Given the description of an element on the screen output the (x, y) to click on. 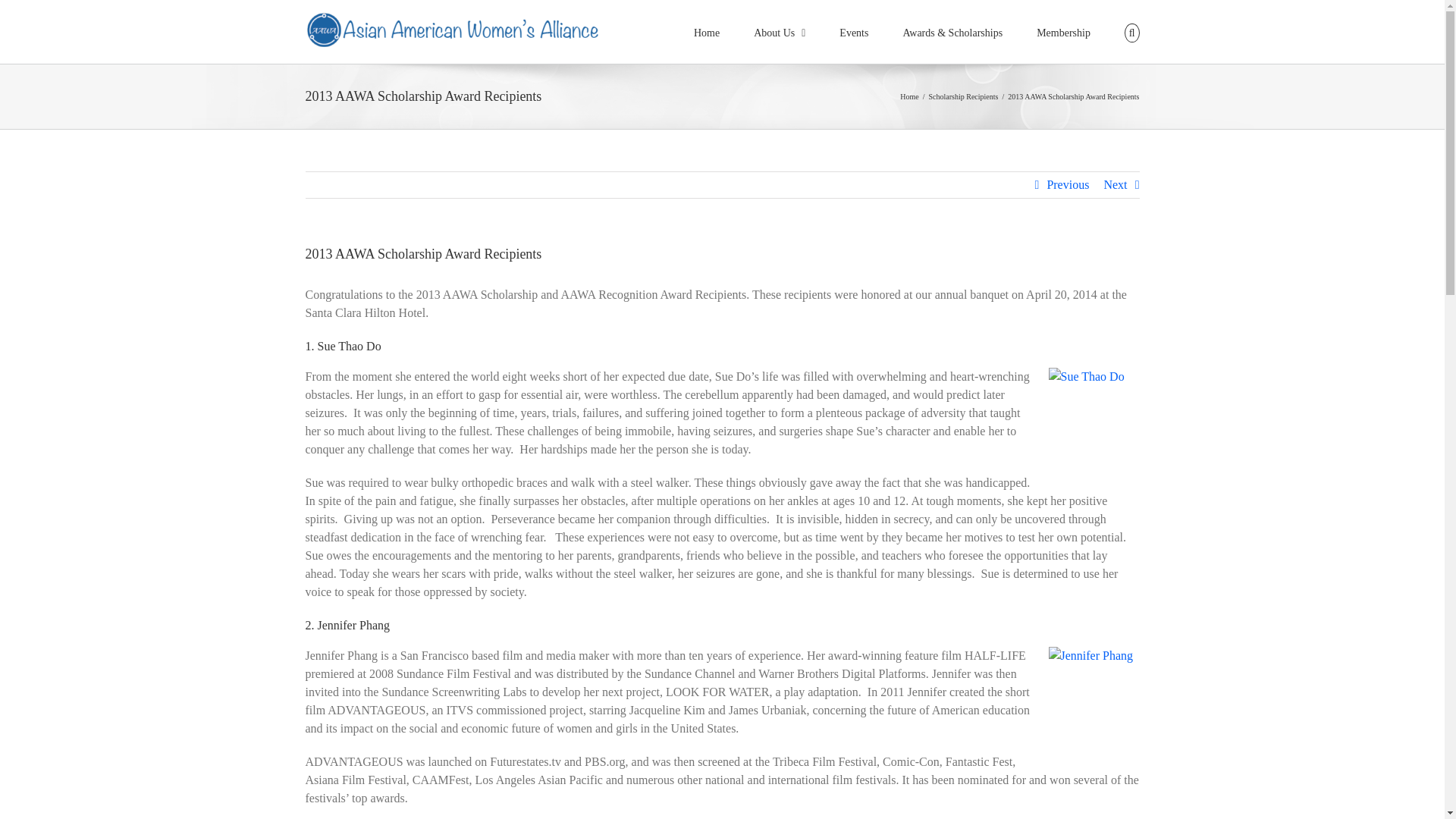
Next (1114, 184)
Home (908, 96)
Previous (1067, 184)
Scholarship Recipients (963, 96)
